Given the description of an element on the screen output the (x, y) to click on. 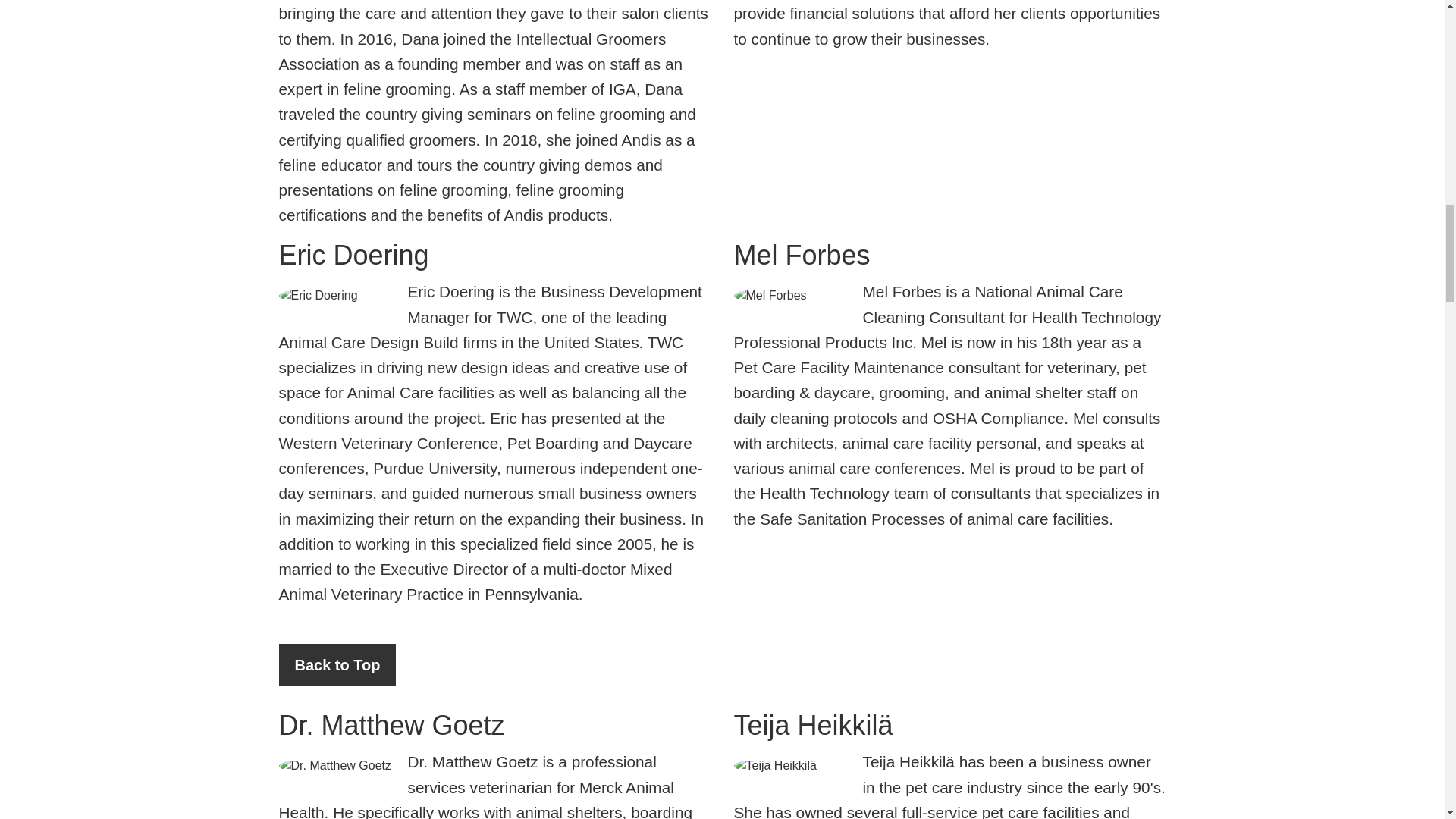
Back to Top (337, 664)
